Given the description of an element on the screen output the (x, y) to click on. 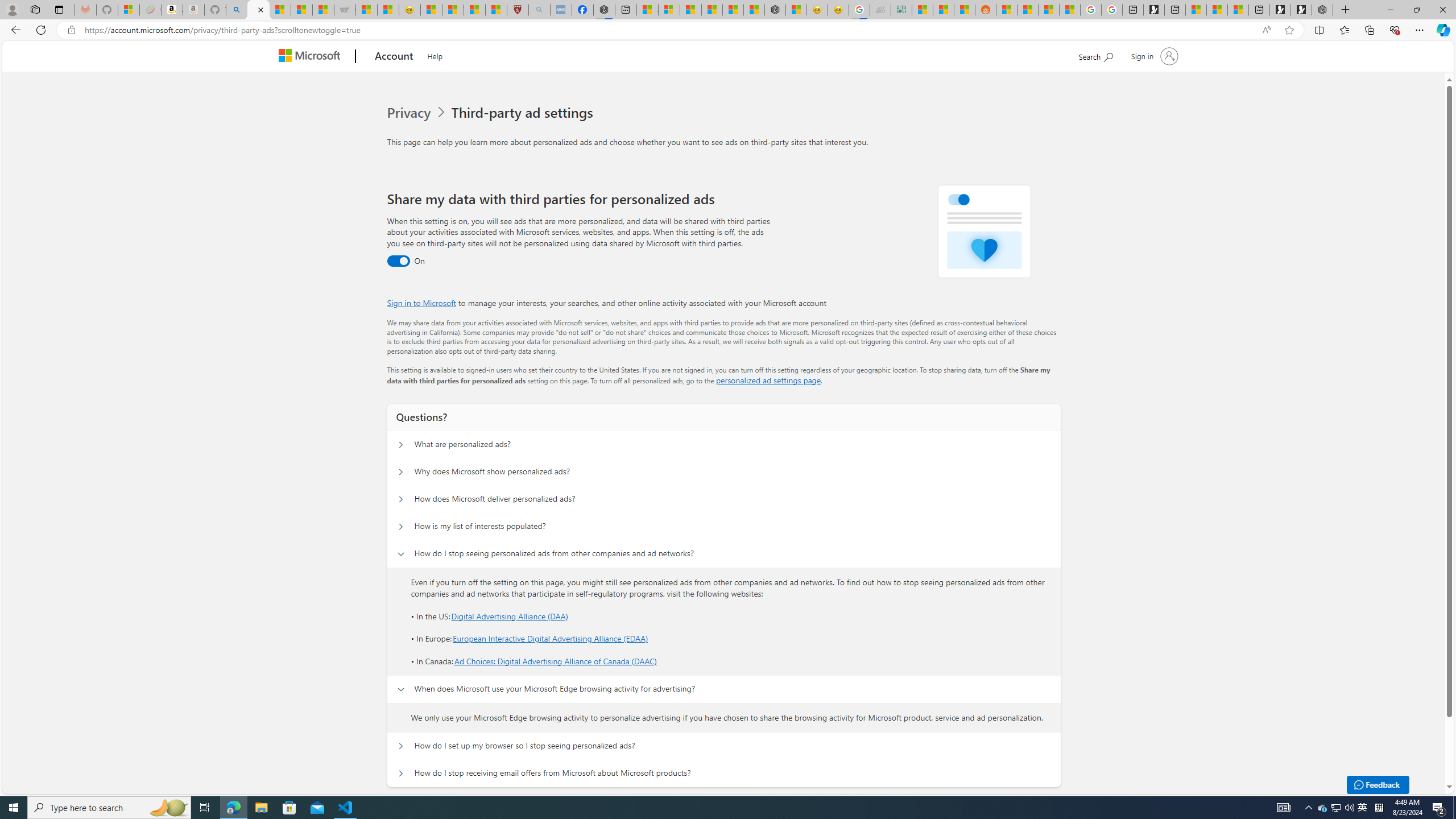
Ad Choices: Digital Advertising Alliance of Canada (DAAC) (555, 660)
Search Microsoft.com (1095, 54)
14 Common Myths Debunked By Scientific Facts (732, 9)
Robert H. Shmerling, MD - Harvard Health (517, 9)
DITOGAMES AG Imprint (901, 9)
Questions? How is my list of interests populated? (401, 526)
